Given the description of an element on the screen output the (x, y) to click on. 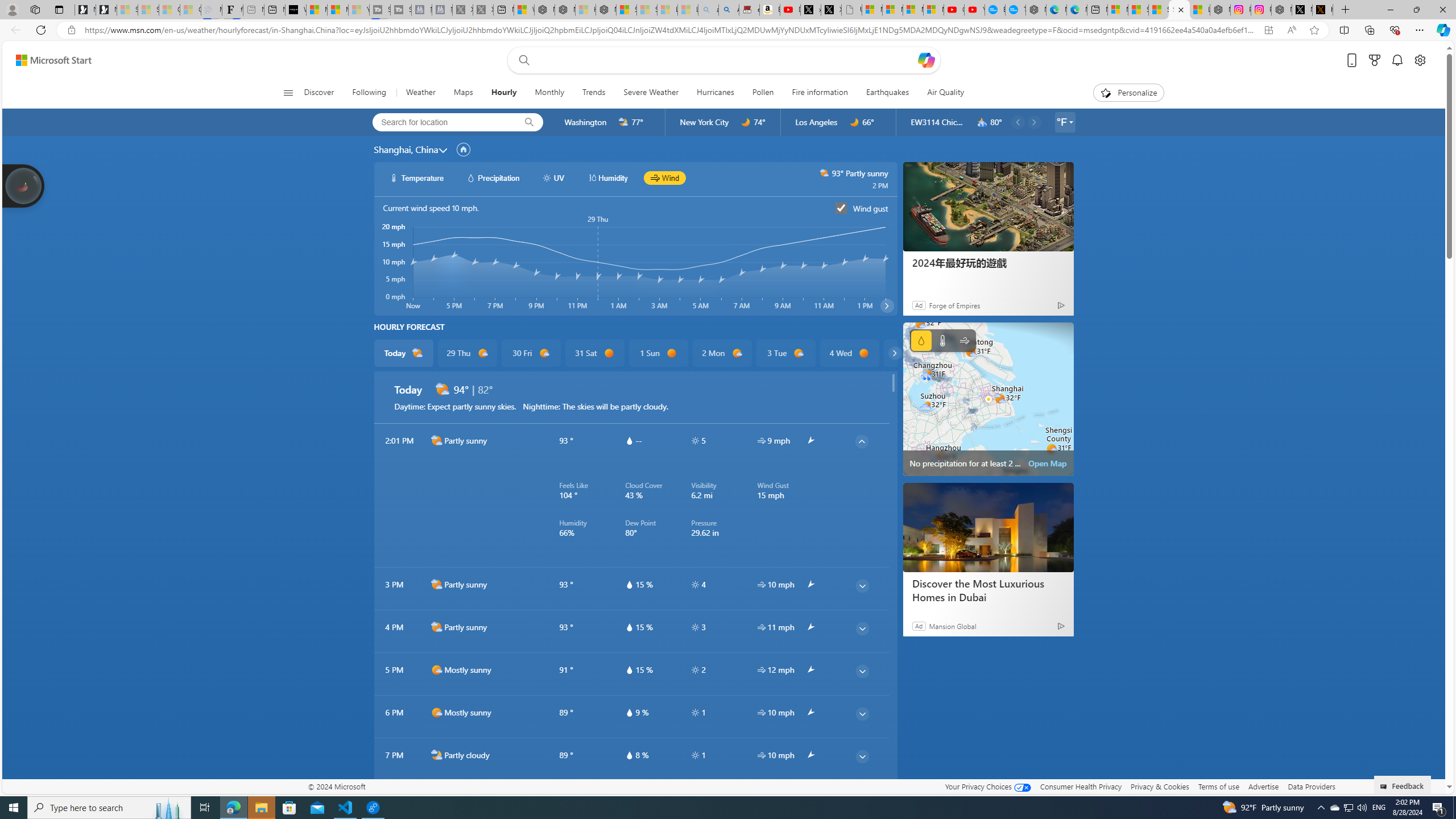
Hurricanes (715, 92)
Earthquakes (887, 92)
Forge of Empires (953, 304)
YouTube Kids - An App Created for Kids to Explore Content (974, 9)
Untitled (851, 9)
Weather (420, 92)
5 Thu d1000 (913, 352)
Consumer Health Privacy (1080, 785)
d1000 (436, 712)
common/arrow (809, 797)
